Given the description of an element on the screen output the (x, y) to click on. 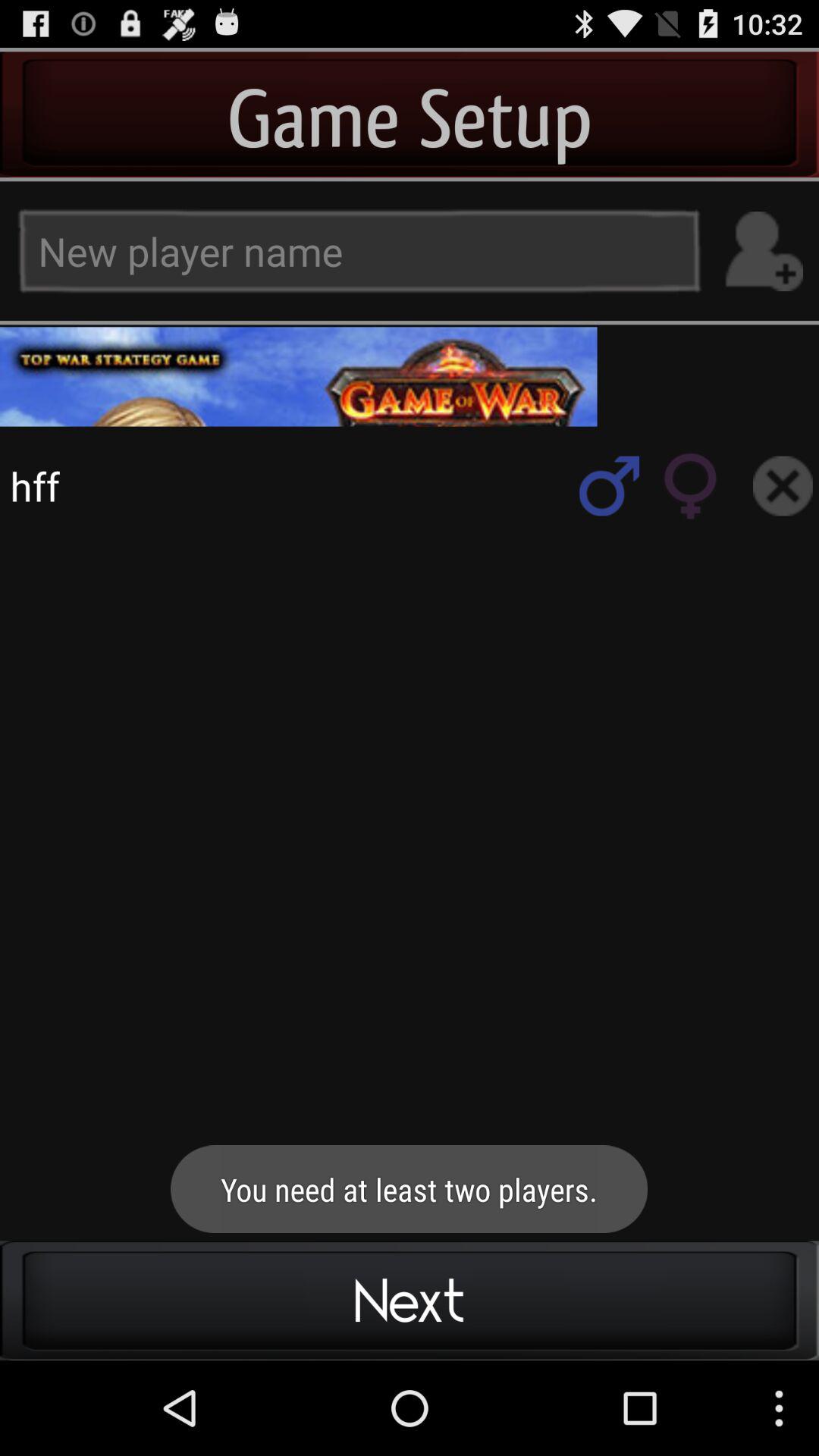
close search box (782, 485)
